Given the description of an element on the screen output the (x, y) to click on. 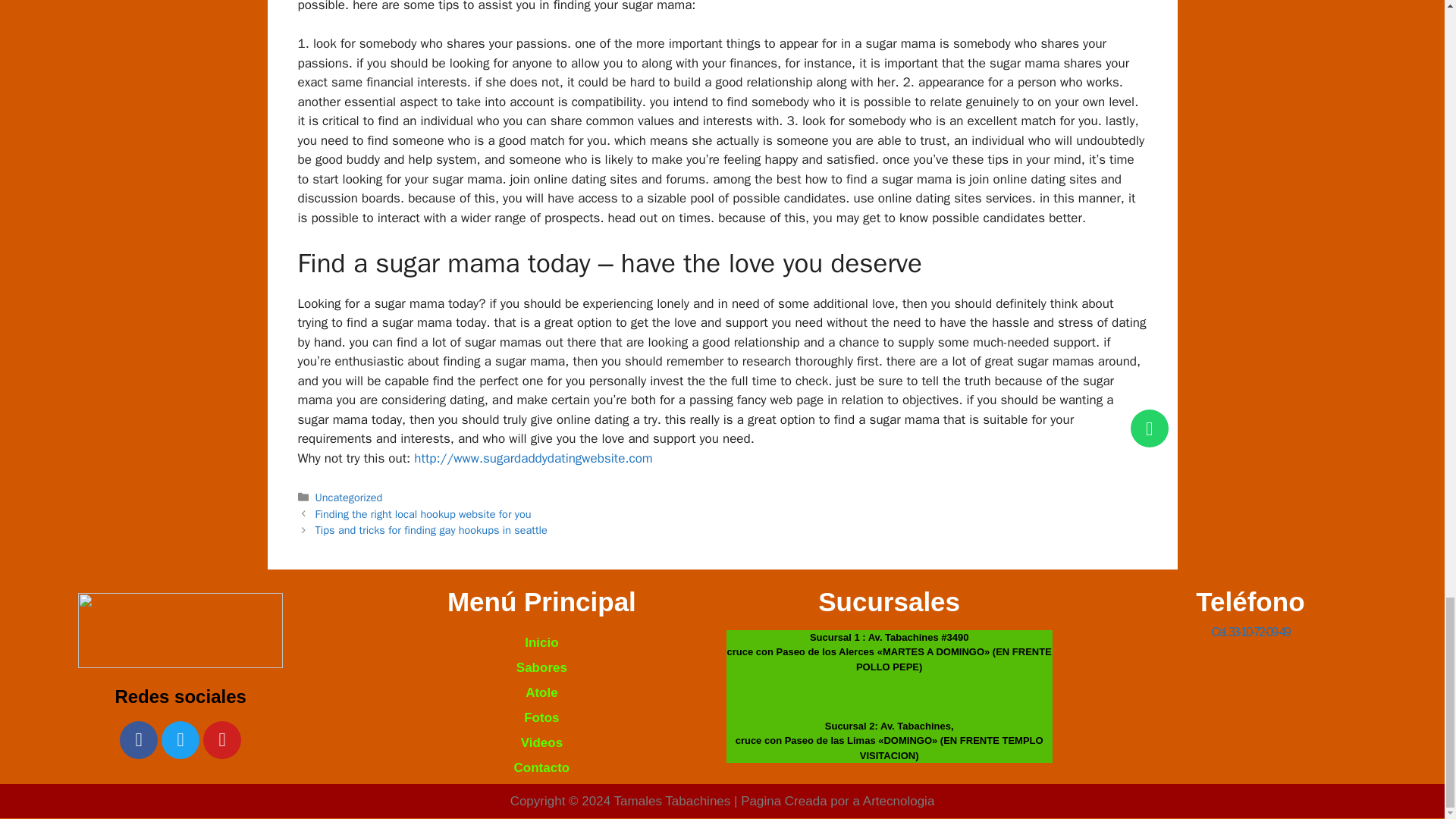
Fotos (541, 717)
Artecnologia (898, 800)
Atole (541, 692)
Contacto (541, 767)
Sabores (541, 667)
Videos (541, 742)
Cel. 33-10-72-09-49 (1249, 631)
Anterior (423, 513)
Uncategorized (348, 497)
Finding the right local hookup website for you (423, 513)
Tips and tricks for finding gay hookups in seattle (431, 530)
Inicio (541, 642)
Siguiente (431, 530)
